Given the description of an element on the screen output the (x, y) to click on. 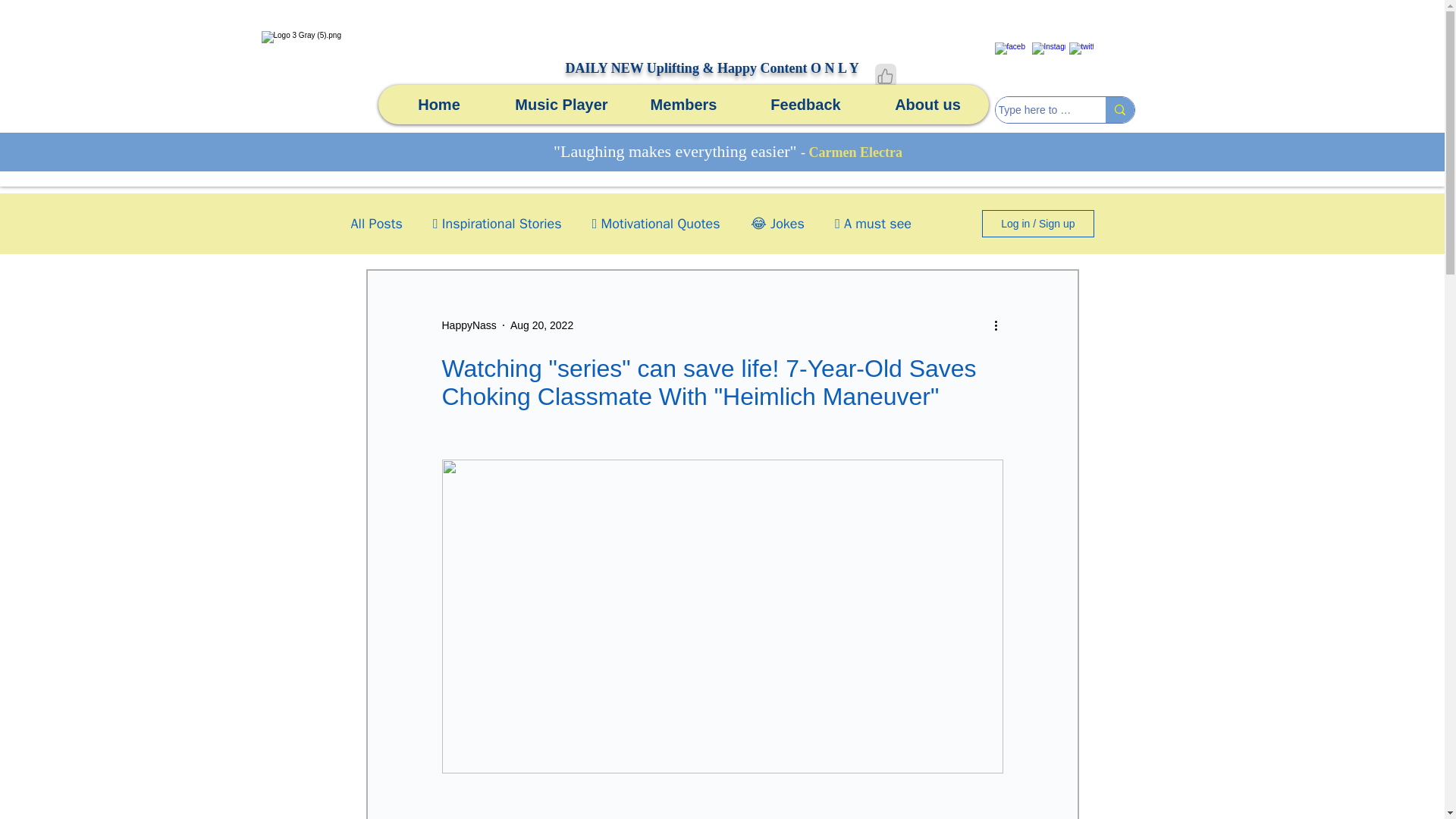
Feedback (805, 104)
About us (927, 104)
HappyNass (468, 325)
Music Player (561, 104)
HappyNass (468, 325)
Members (682, 104)
All Posts (375, 223)
Home (438, 104)
Aug 20, 2022 (542, 325)
